Given the description of an element on the screen output the (x, y) to click on. 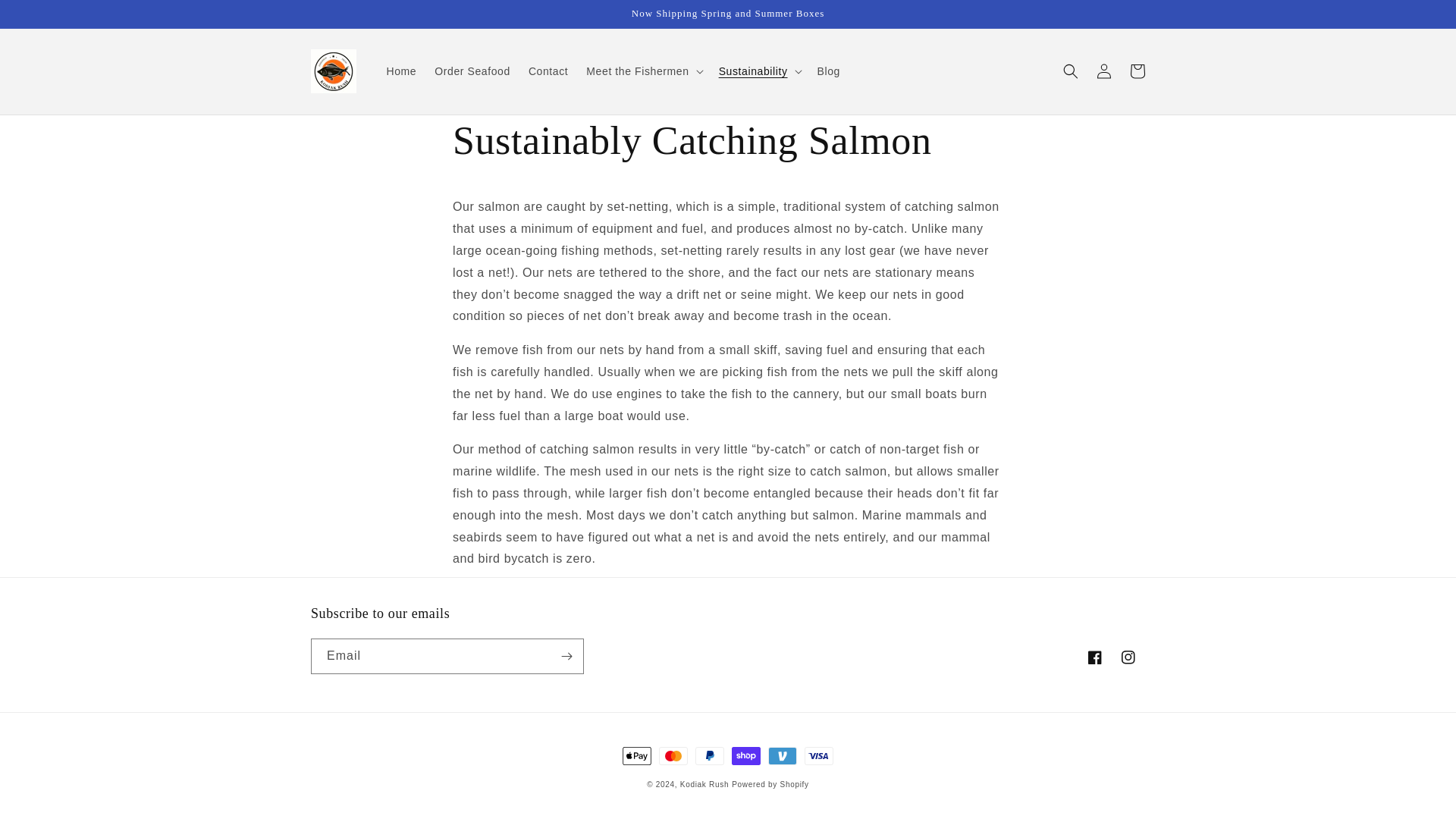
Home (401, 70)
Order Seafood (472, 70)
Instagram (1128, 657)
Cart (1137, 70)
Log in (1104, 70)
Powered by Shopify (770, 784)
Contact (547, 70)
Skip to content (45, 17)
Blog (828, 70)
Kodiak Rush (704, 784)
